Given the description of an element on the screen output the (x, y) to click on. 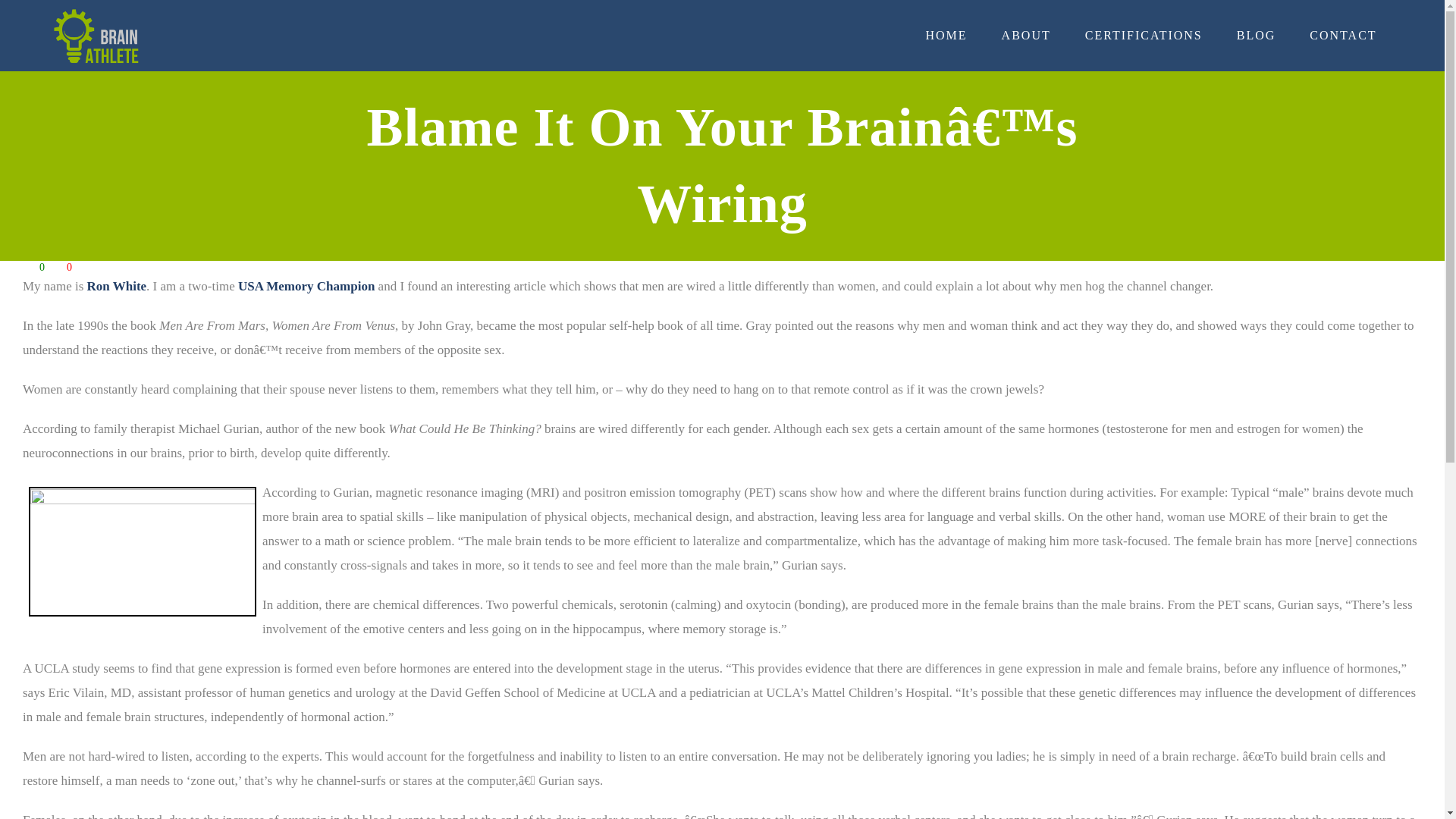
USA Memory Champion (306, 286)
HOME (946, 35)
ABOUT (1025, 35)
Like (28, 267)
CONTACT (1342, 35)
CERTIFICATIONS (1143, 35)
BLOG (1256, 35)
Ron White (117, 286)
